Given the description of an element on the screen output the (x, y) to click on. 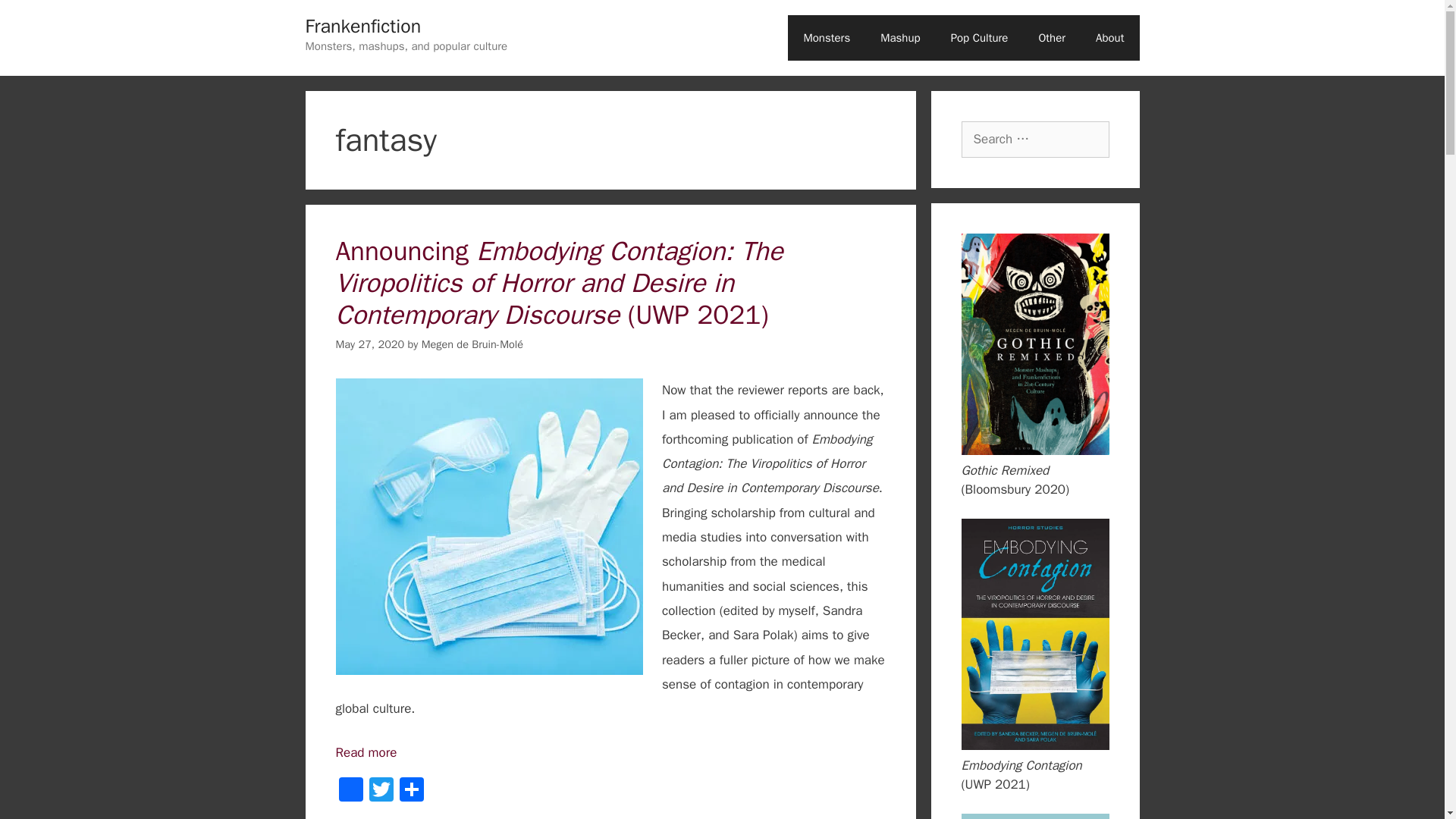
Monsters (825, 37)
Frankenfiction (362, 25)
Facebook (349, 791)
Other (1051, 37)
Pop Culture (979, 37)
About (1109, 37)
Mashup (899, 37)
Twitter (380, 791)
Twitter (380, 791)
Read more (365, 752)
